Given the description of an element on the screen output the (x, y) to click on. 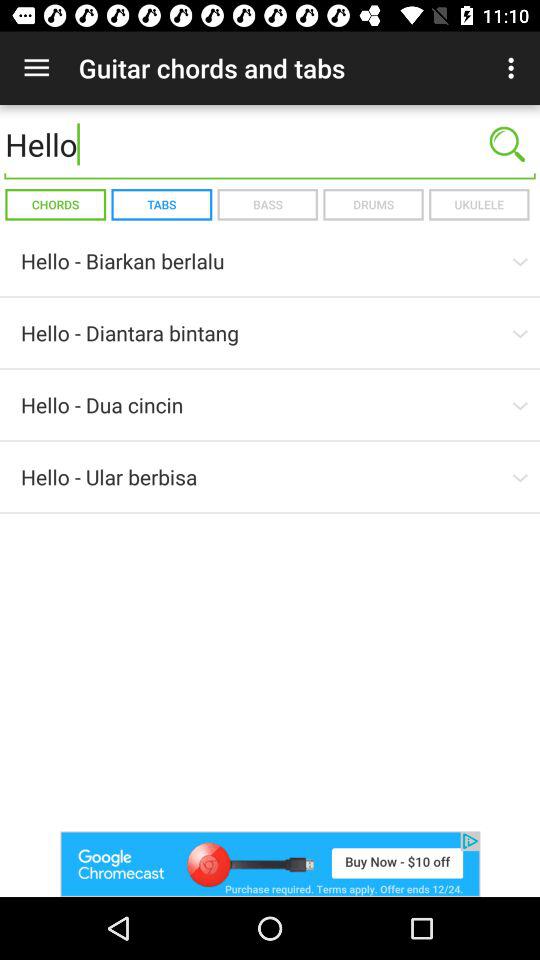
advertisement link (270, 864)
